Given the description of an element on the screen output the (x, y) to click on. 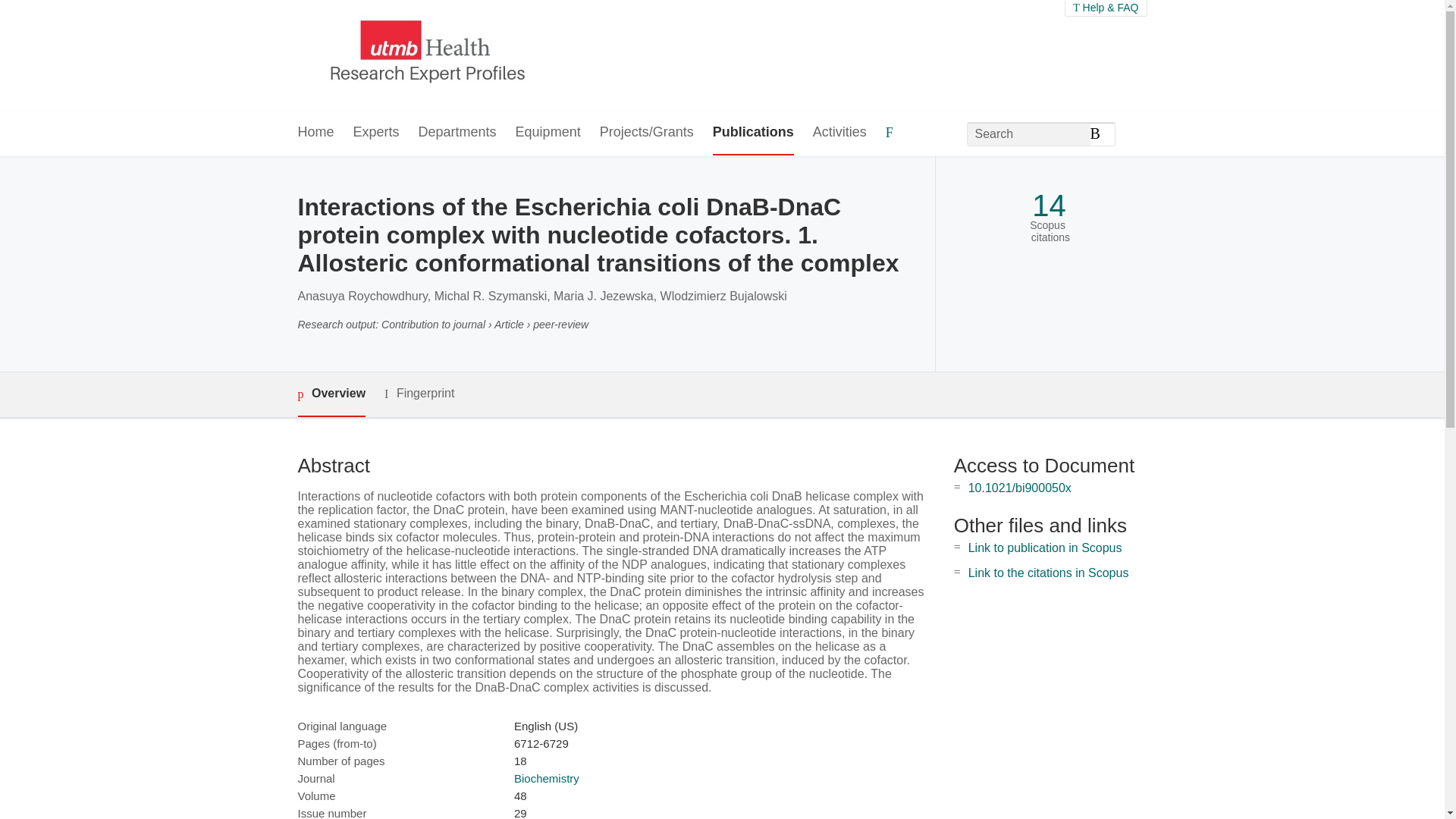
Equipment (547, 132)
Activities (839, 132)
Fingerprint (419, 393)
Publications (753, 132)
14 (1048, 205)
Departments (457, 132)
UTMB Health Research Expert Profiles Home (424, 55)
Link to the citations in Scopus (1048, 572)
Overview (331, 394)
Biochemistry (546, 778)
Link to publication in Scopus (1045, 547)
Experts (375, 132)
